Given the description of an element on the screen output the (x, y) to click on. 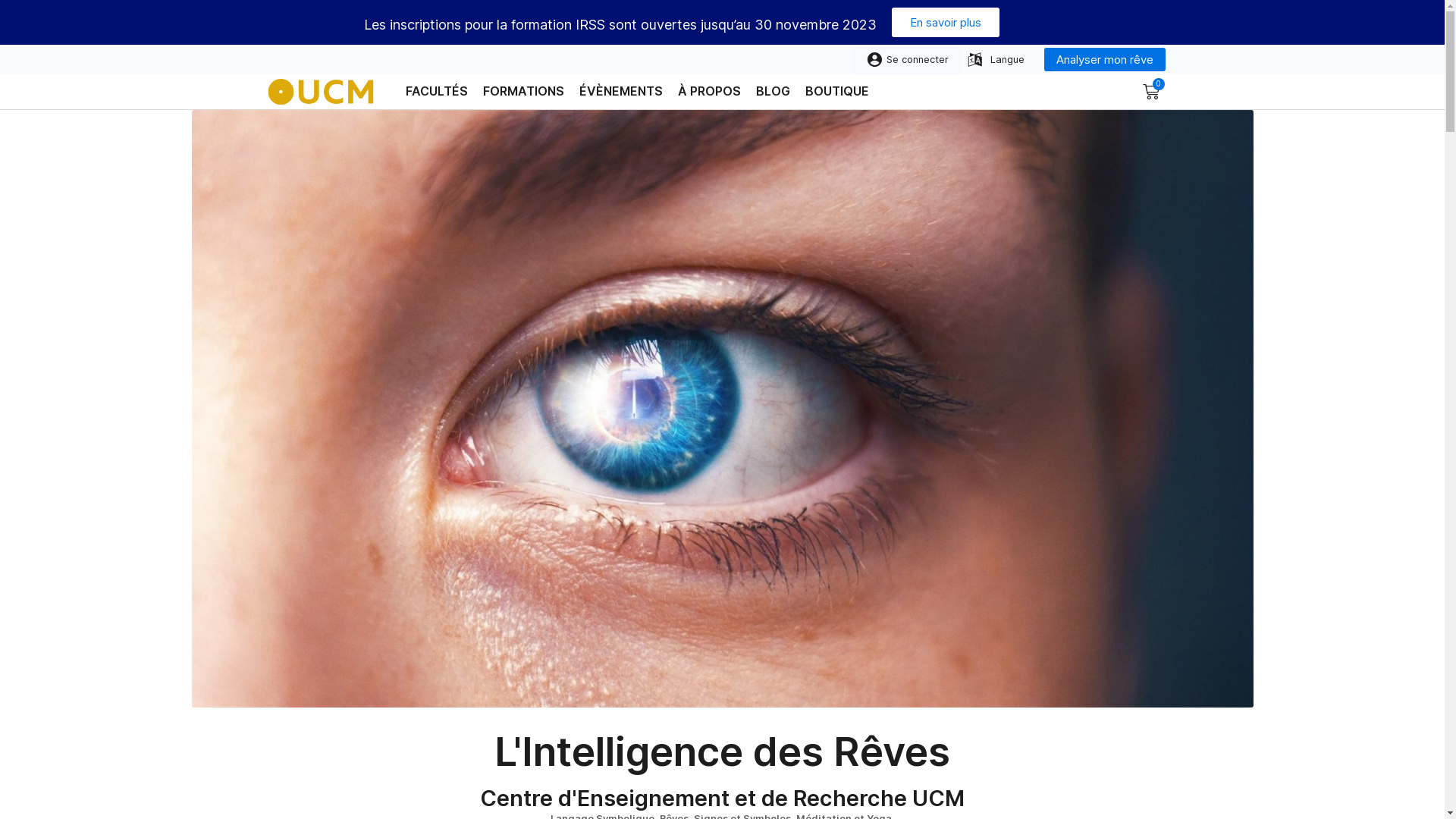
0 Element type: text (1149, 91)
Se connecter Element type: text (905, 59)
BOUTIQUE Element type: text (837, 90)
FORMATIONS Element type: text (522, 90)
BLOG Element type: text (772, 90)
En savoir plus Element type: text (945, 22)
